Given the description of an element on the screen output the (x, y) to click on. 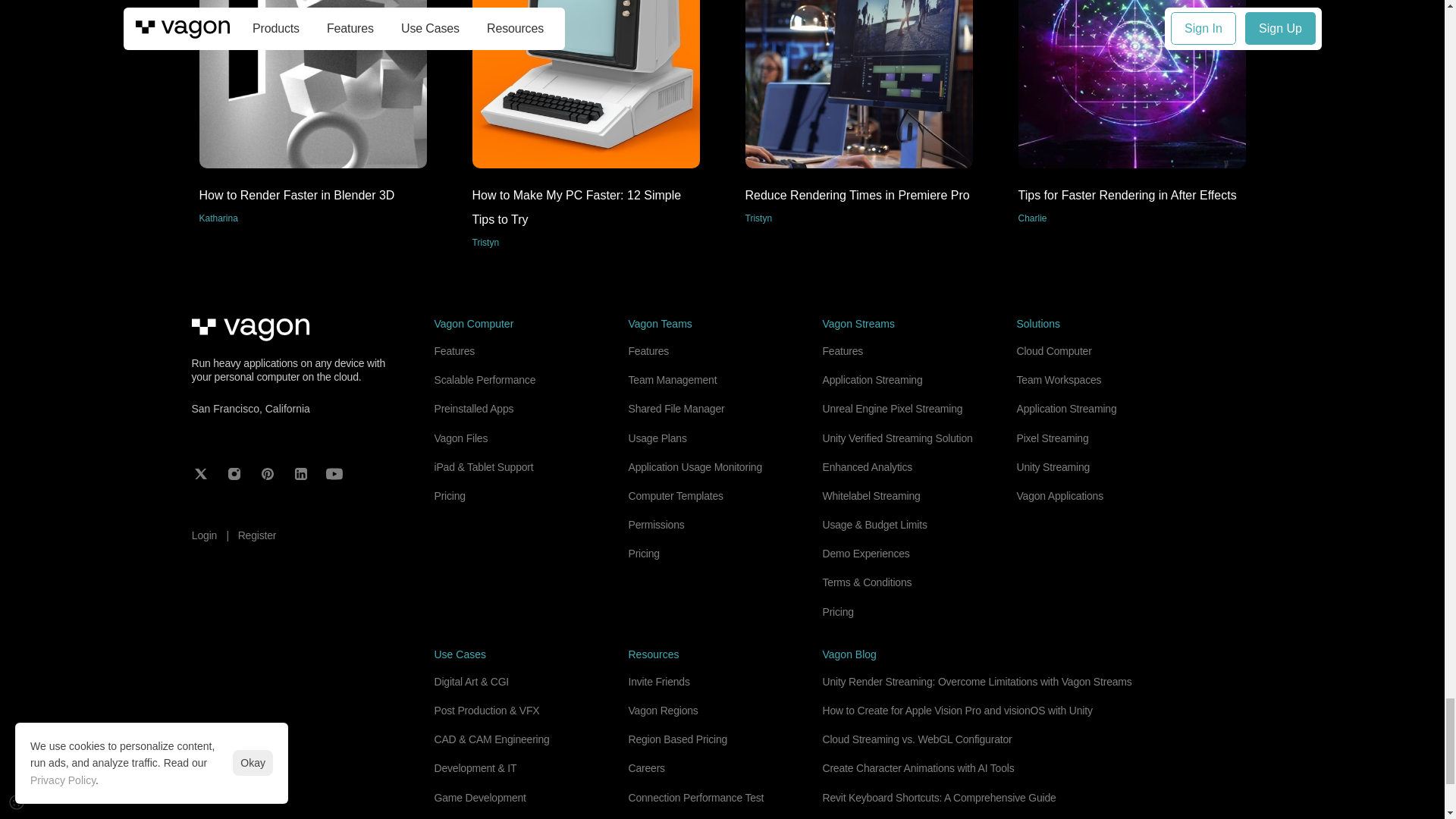
Login (203, 535)
Scalable Performance (857, 116)
Application Usage Monitoring (484, 379)
Computer Templates (694, 467)
Usage Plans (1131, 116)
Permissions (674, 495)
Pricing (656, 438)
Features (655, 524)
Shared File Manager (448, 495)
Preinstalled Apps (647, 350)
Pricing (311, 116)
